Given the description of an element on the screen output the (x, y) to click on. 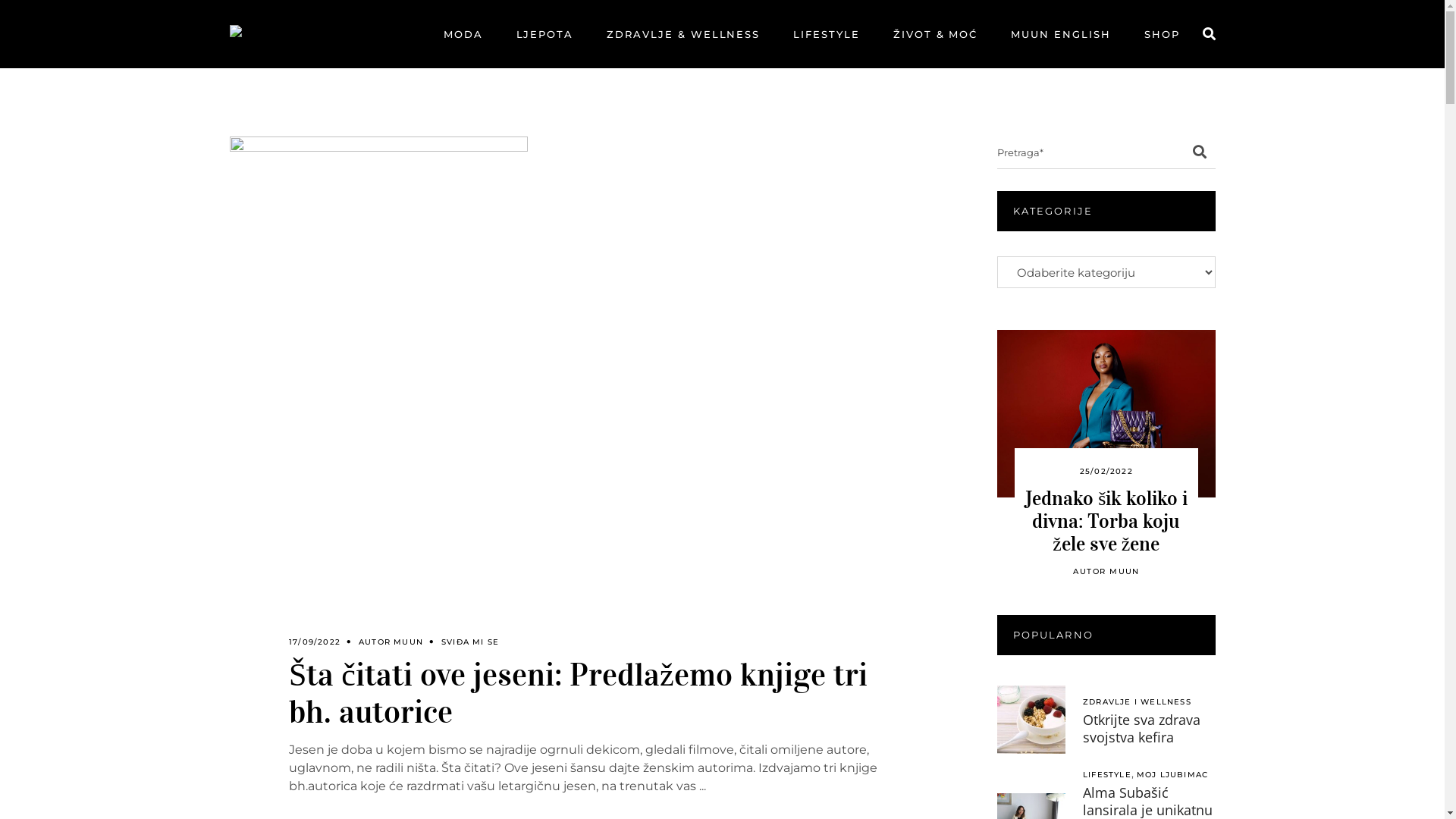
Otkrijte sva zdrava svojstva kefira Element type: text (1141, 728)
LIFESTYLE Element type: text (1106, 774)
MUUN Element type: text (1124, 571)
MUUN ENGLISH Element type: text (1060, 34)
25/02/2022 Element type: text (1105, 471)
MODA Element type: text (462, 34)
ZDRAVLJE & WELLNESS Element type: text (682, 34)
Otkrijte sva zdrava svojstva kefira Element type: hover (1031, 719)
LIFESTYLE Element type: text (826, 34)
ZDRAVLJE I WELLNESS Element type: text (1136, 701)
LJEPOTA Element type: text (544, 34)
SHOP Element type: text (1161, 34)
MUUN Element type: text (408, 641)
MOJ LJUBIMAC Element type: text (1172, 774)
17/09/2022 Element type: text (314, 641)
Search for: Element type: hover (1090, 152)
